Given the description of an element on the screen output the (x, y) to click on. 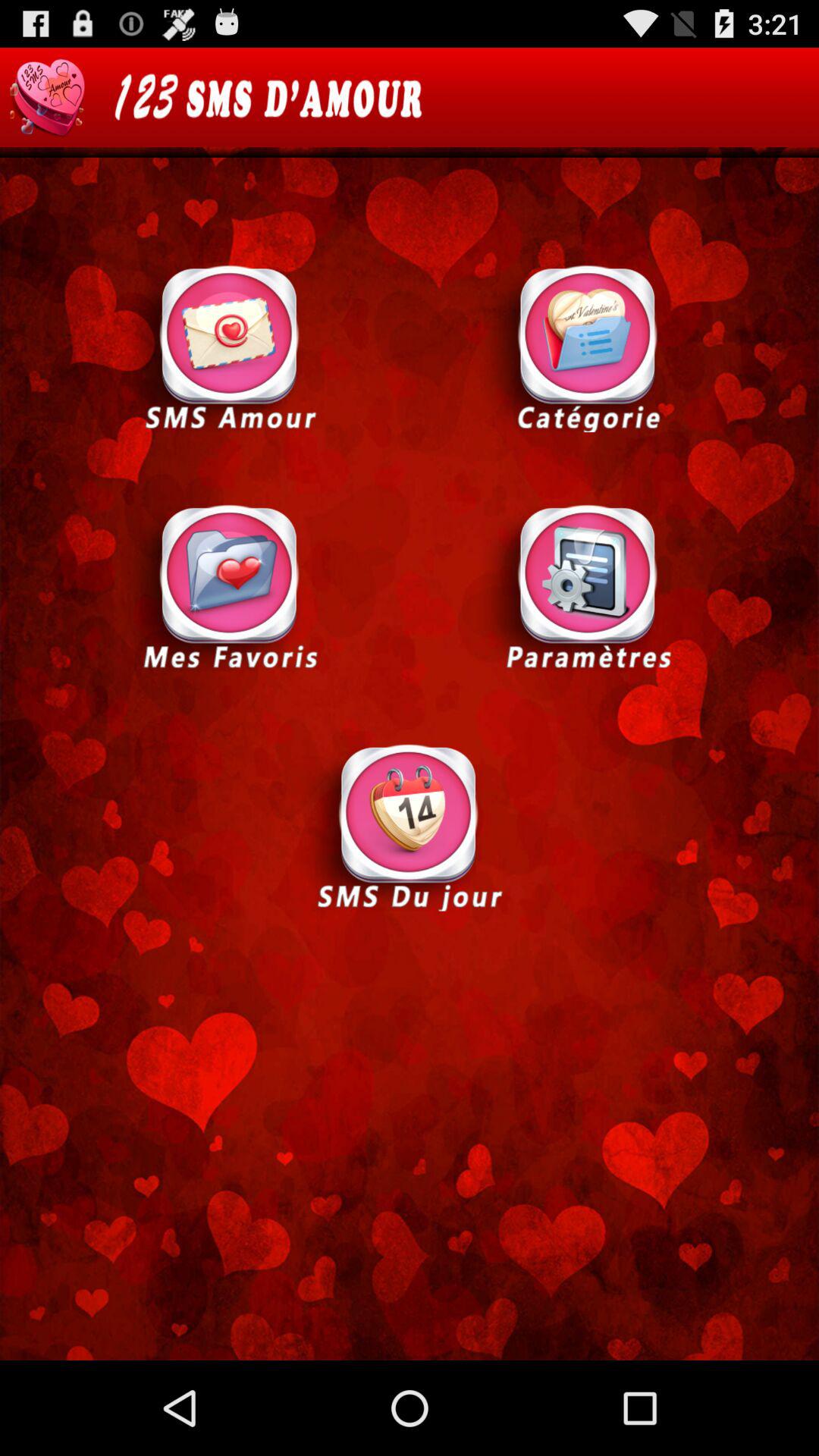
sms button (229, 347)
